Given the description of an element on the screen output the (x, y) to click on. 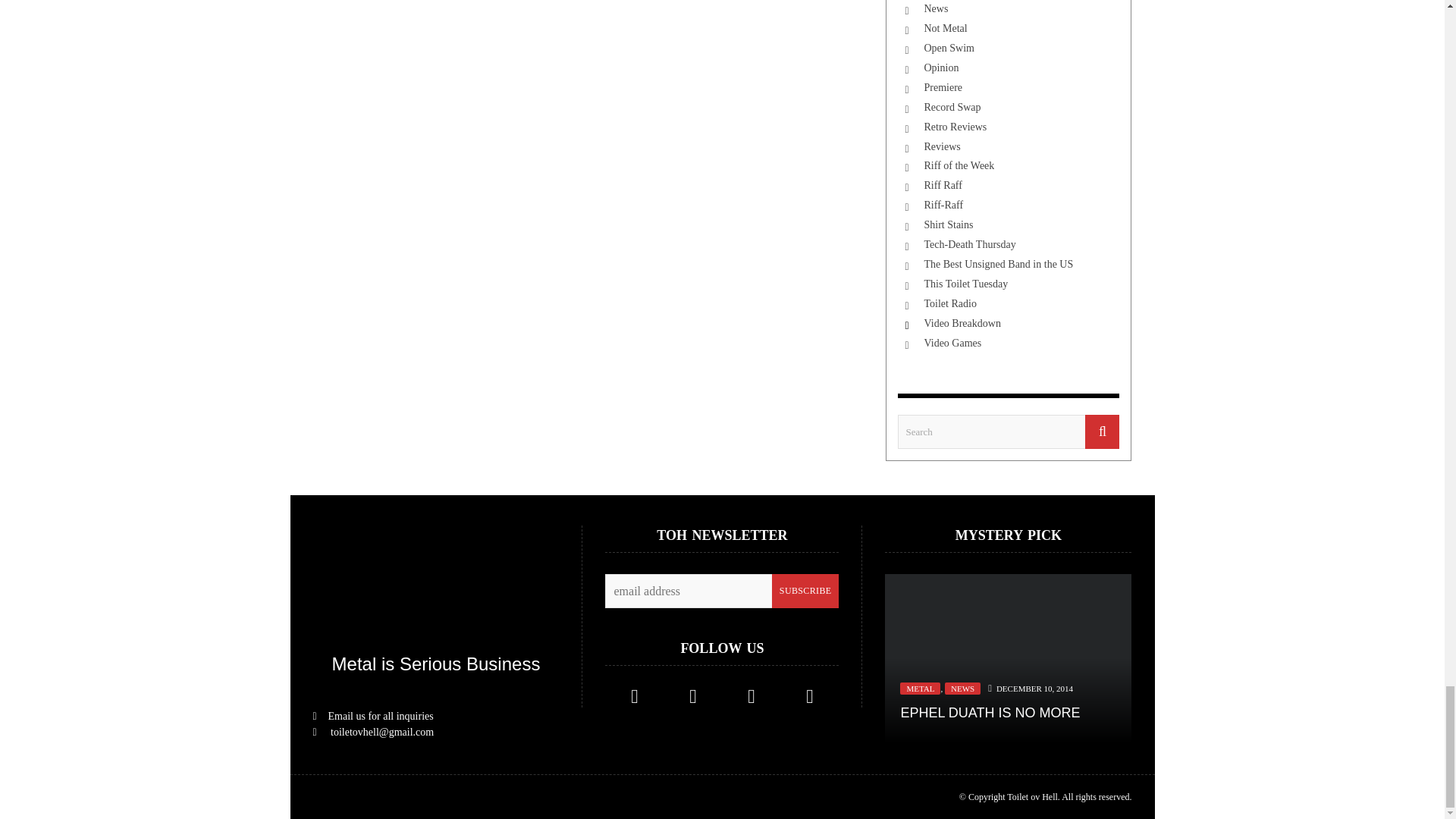
Search (1008, 431)
Subscribe (805, 591)
